Given the description of an element on the screen output the (x, y) to click on. 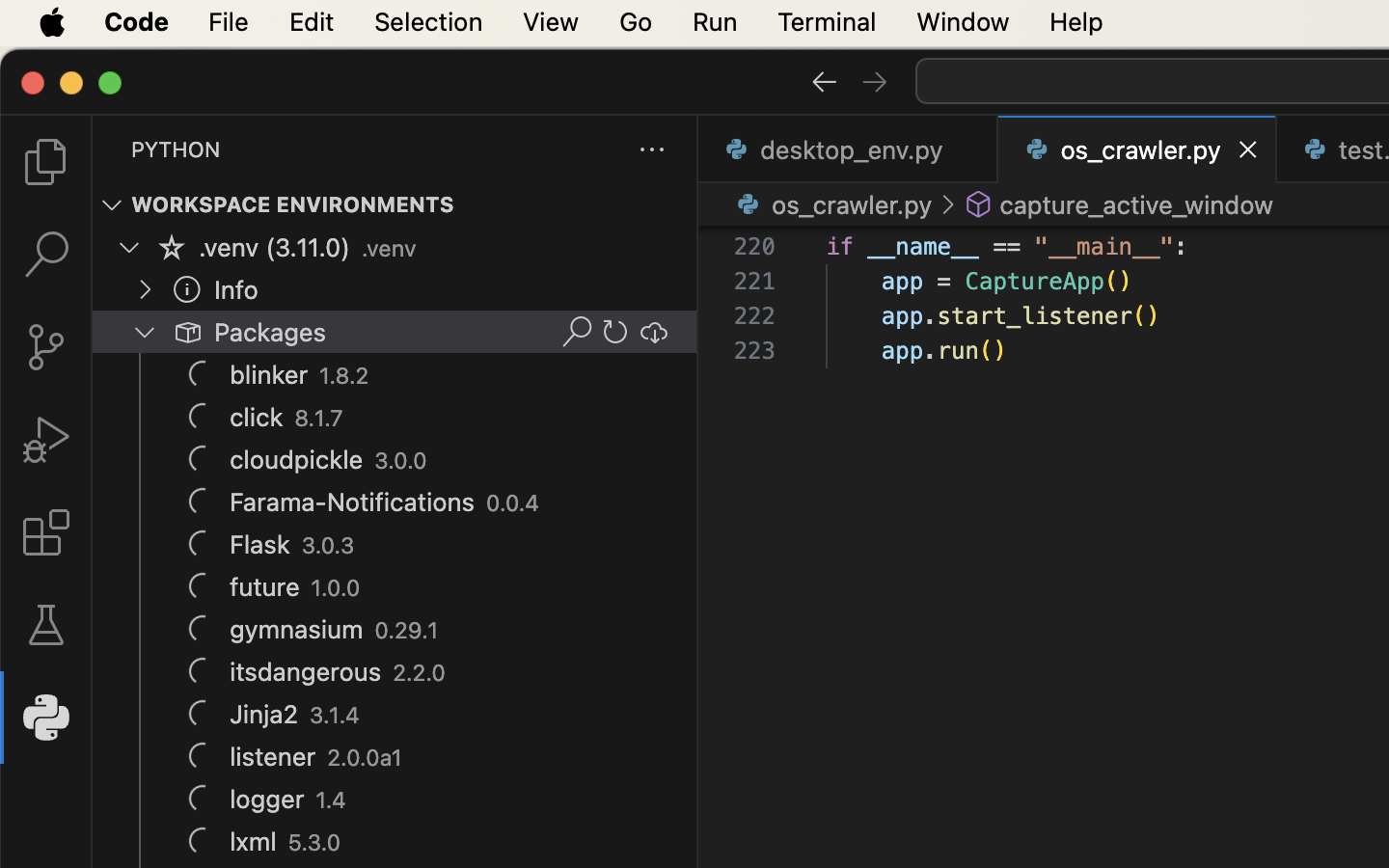
Info Element type: AXStaticText (236, 289)
future Element type: AXStaticText (264, 586)
0.29.1 Element type: AXStaticText (406, 630)
